Given the description of an element on the screen output the (x, y) to click on. 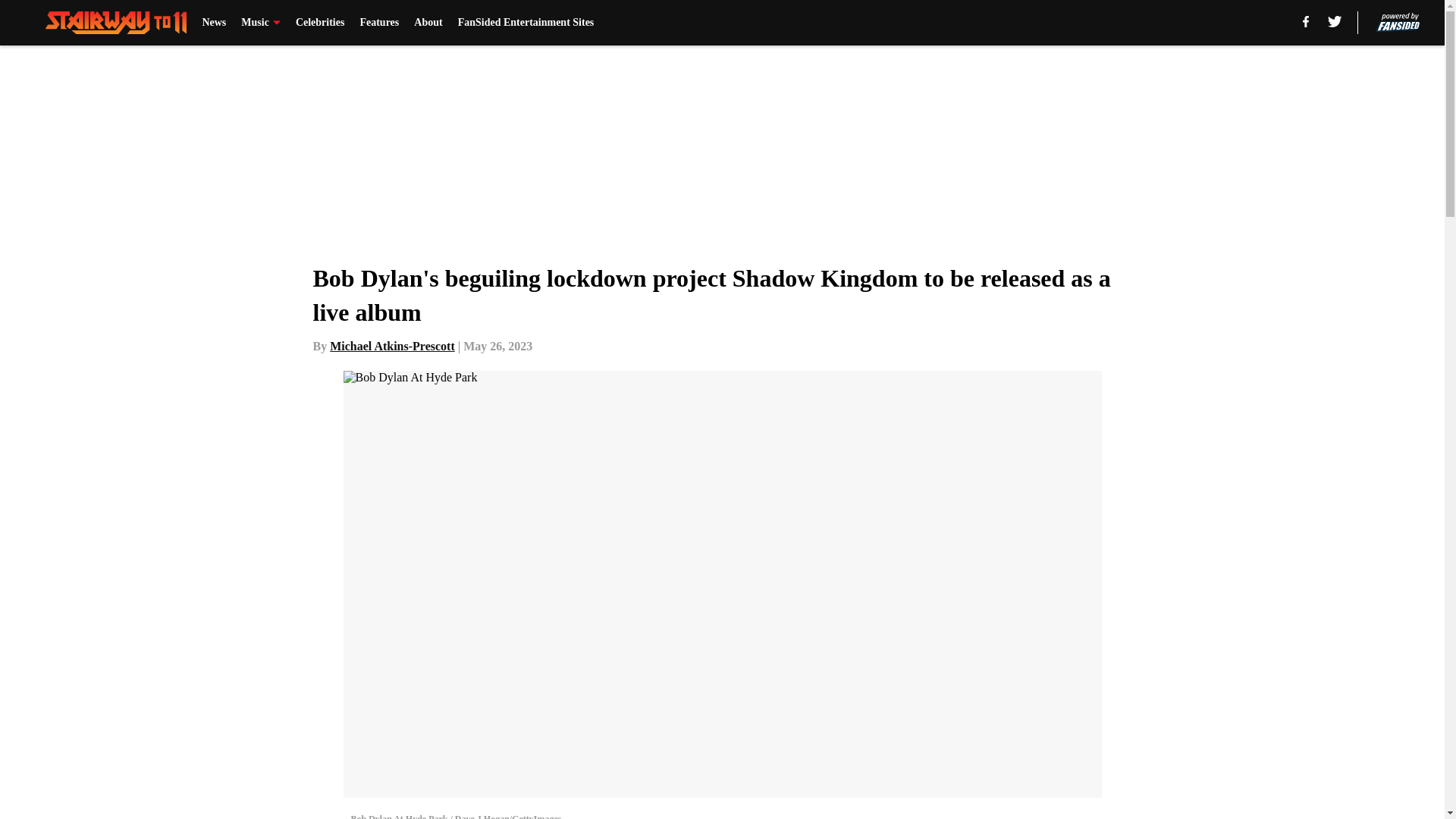
News (213, 22)
About (427, 22)
Music (261, 22)
Celebrities (320, 22)
Michael Atkins-Prescott (392, 345)
Features (378, 22)
FanSided Entertainment Sites (526, 22)
